Given the description of an element on the screen output the (x, y) to click on. 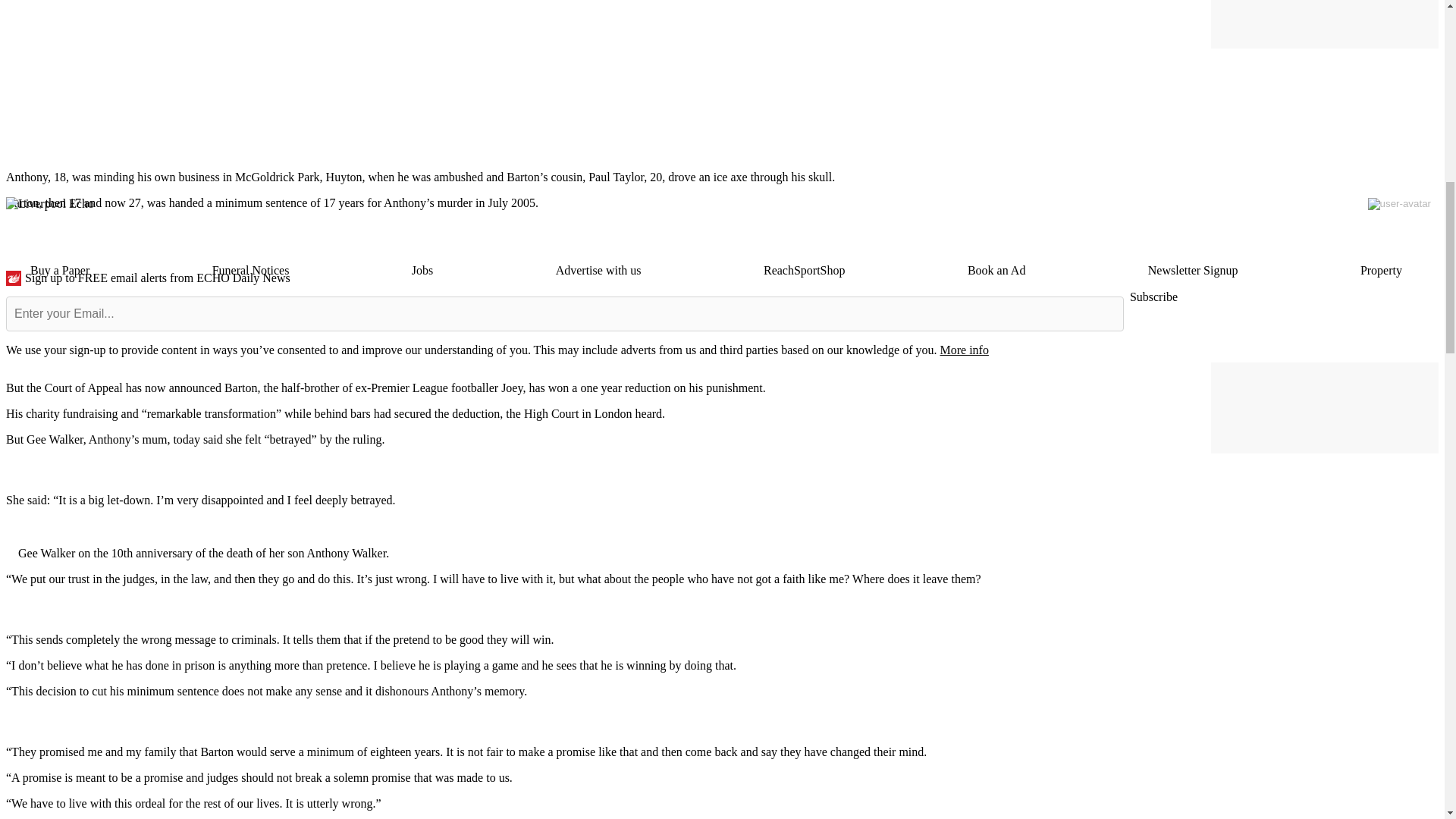
Subscribe (1153, 297)
More info (963, 349)
Huyton (344, 176)
